Given the description of an element on the screen output the (x, y) to click on. 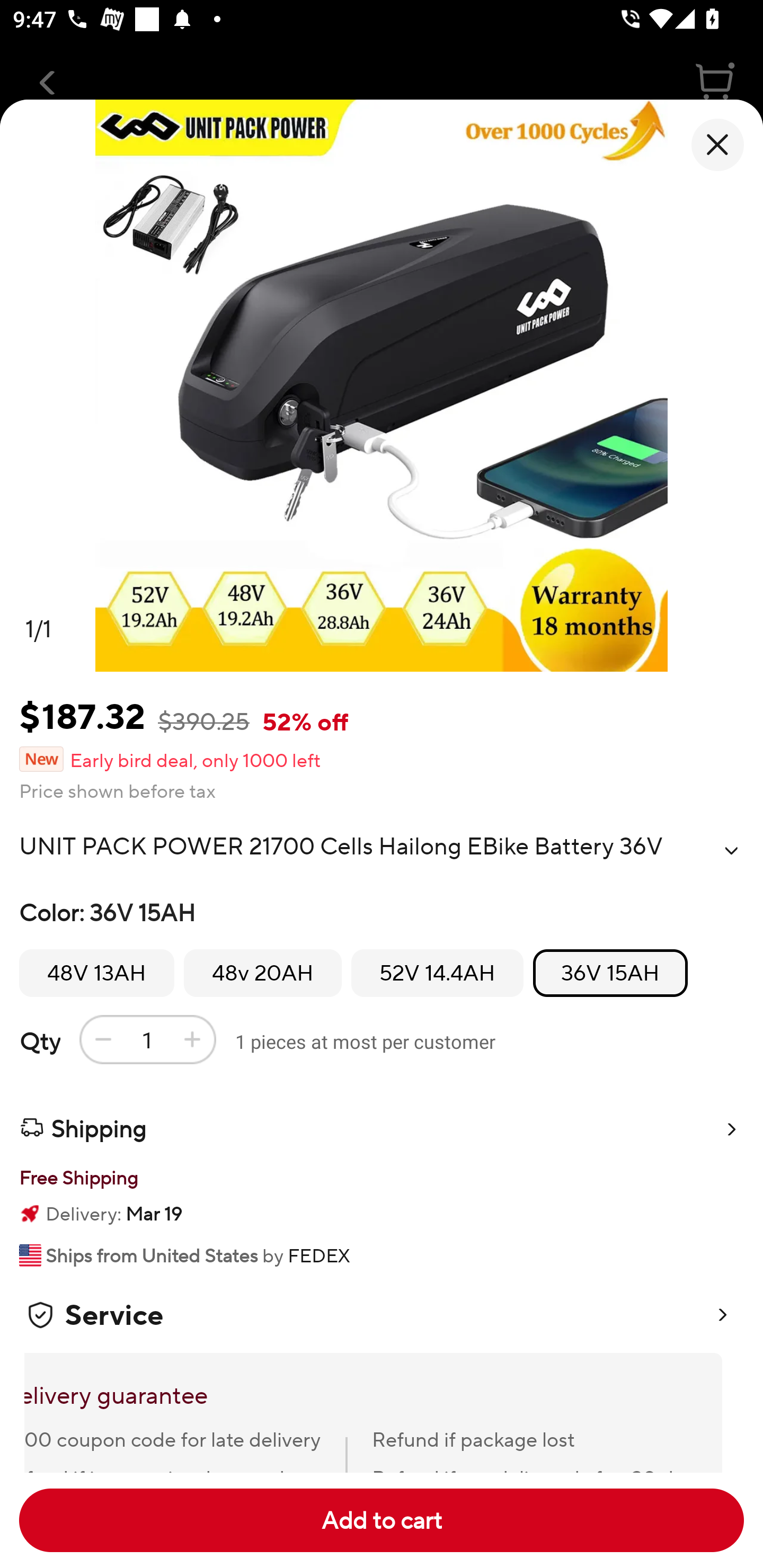
close  (717, 144)
 (730, 850)
48V 13AH (96, 972)
48v 20AH (262, 972)
52V 14.4AH (436, 972)
36V 15AH (610, 972)
Add to cart (381, 1520)
